Given the description of an element on the screen output the (x, y) to click on. 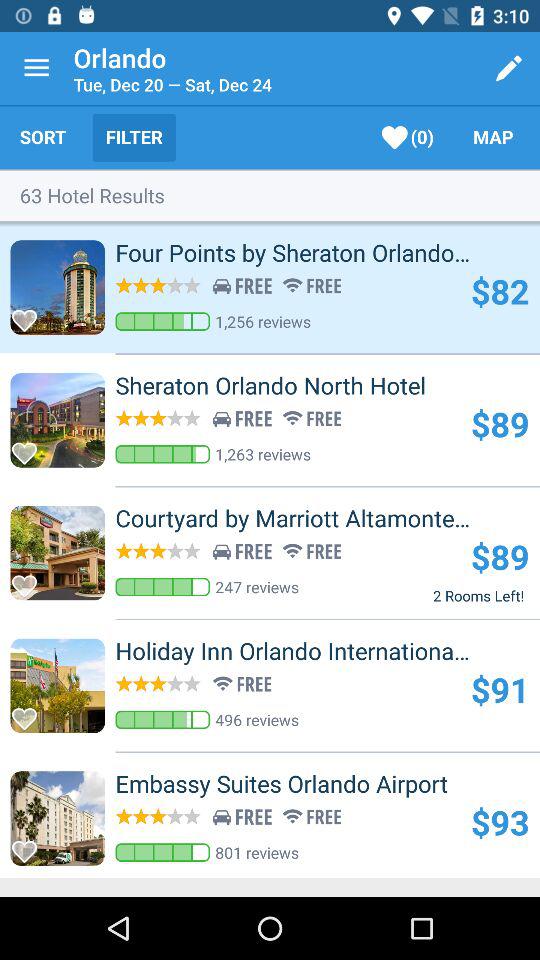
turn off the item above the embassy suites orlando (257, 719)
